Given the description of an element on the screen output the (x, y) to click on. 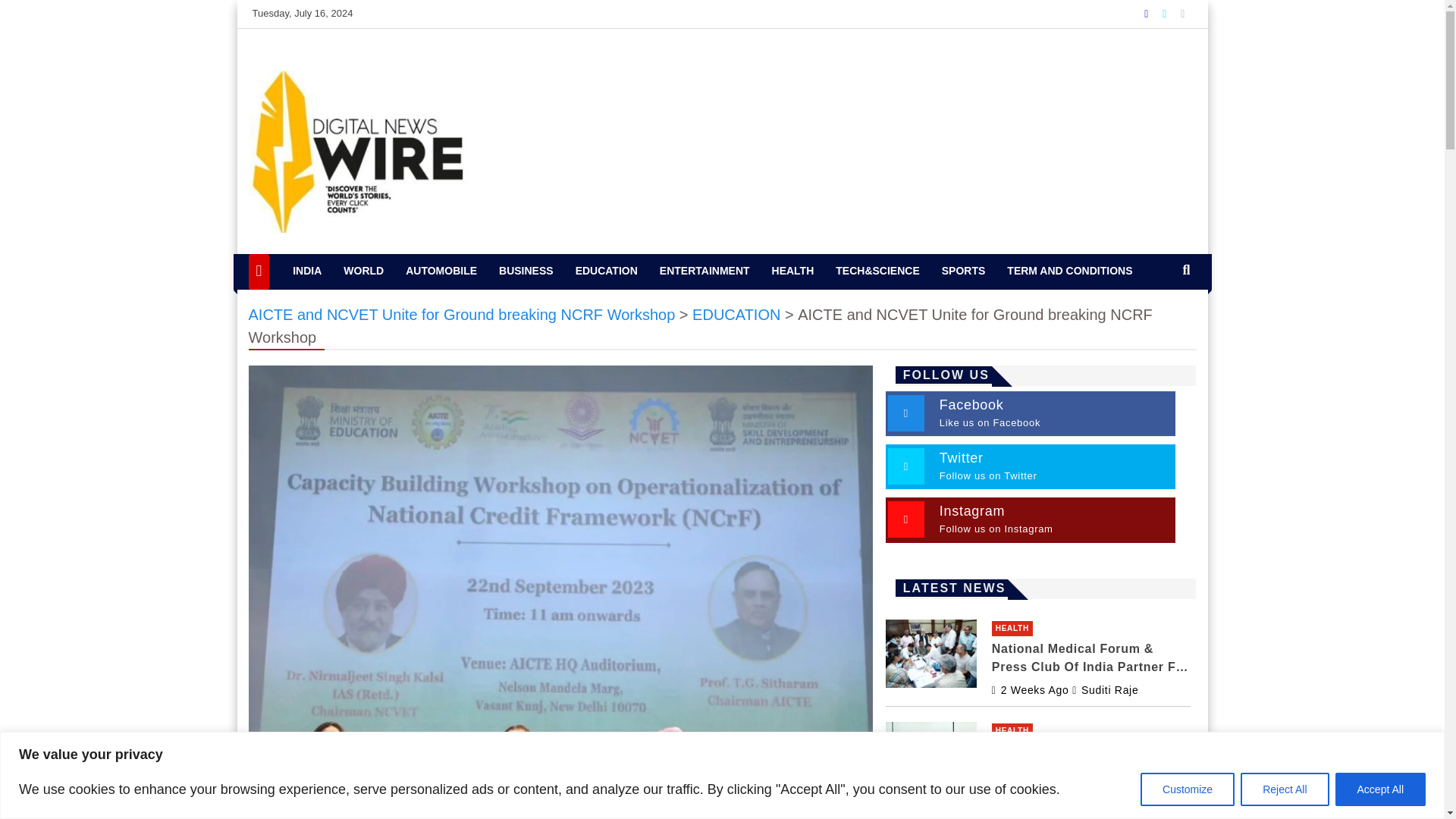
WORLD (363, 270)
TERM AND CONDITIONS (1069, 270)
Reject All (1283, 788)
EDUCATION (606, 270)
ENTERTAINMENT (704, 270)
AICTE and NCVET Unite for Ground breaking NCRF Workshop (461, 314)
HEALTH (793, 270)
Accept All (1380, 788)
SPORTS (963, 270)
AUTOMOBILE (440, 270)
BUSINESS (526, 270)
INDIA (307, 270)
Customize (1187, 788)
Go to the EDUCATION Category archives. (736, 314)
